Given the description of an element on the screen output the (x, y) to click on. 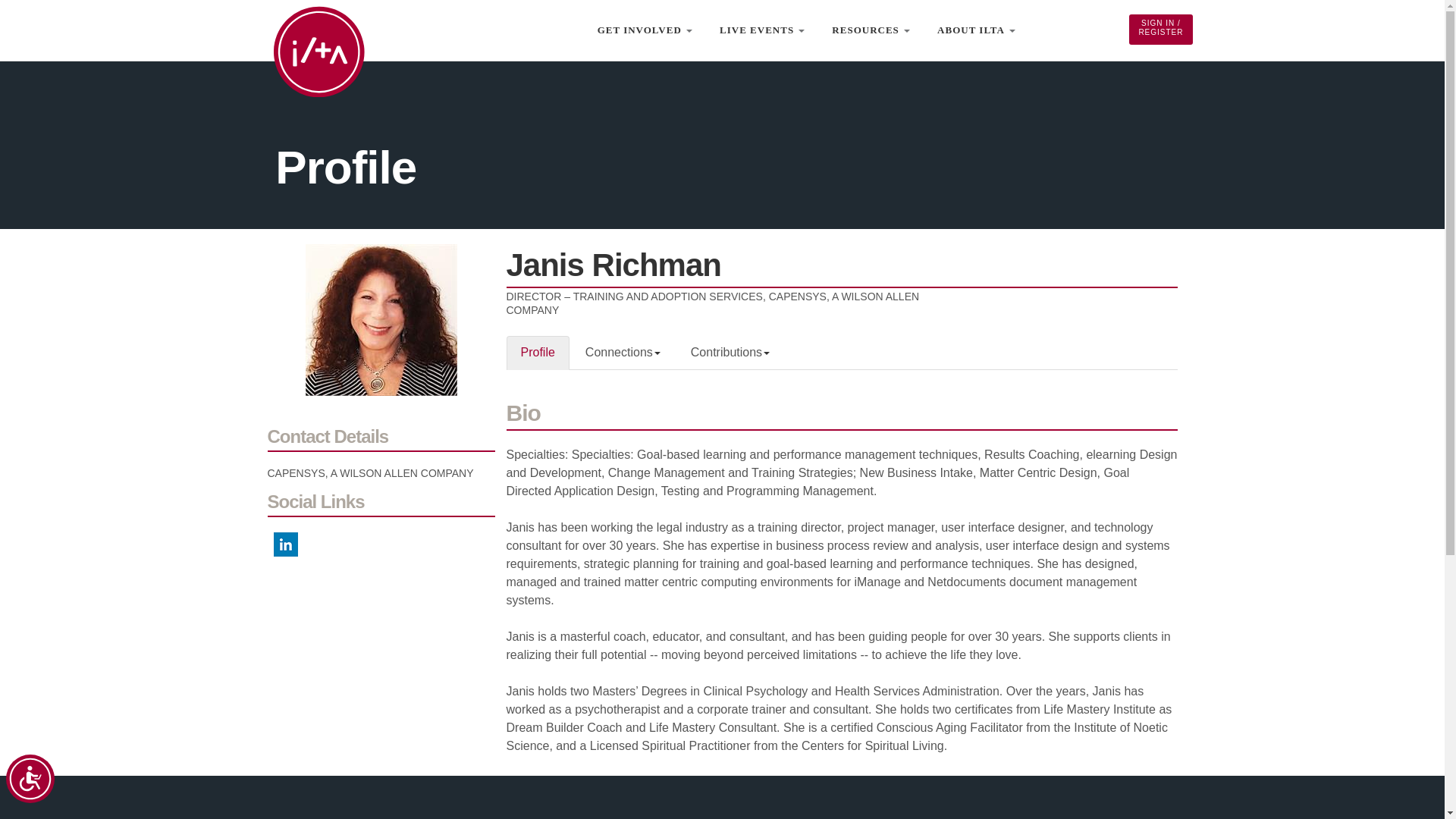
Janis Richman (380, 319)
Accessibility Menu (30, 778)
LIVE EVENTS (762, 30)
RESOURCES (870, 30)
GET INVOLVED (644, 30)
